Given the description of an element on the screen output the (x, y) to click on. 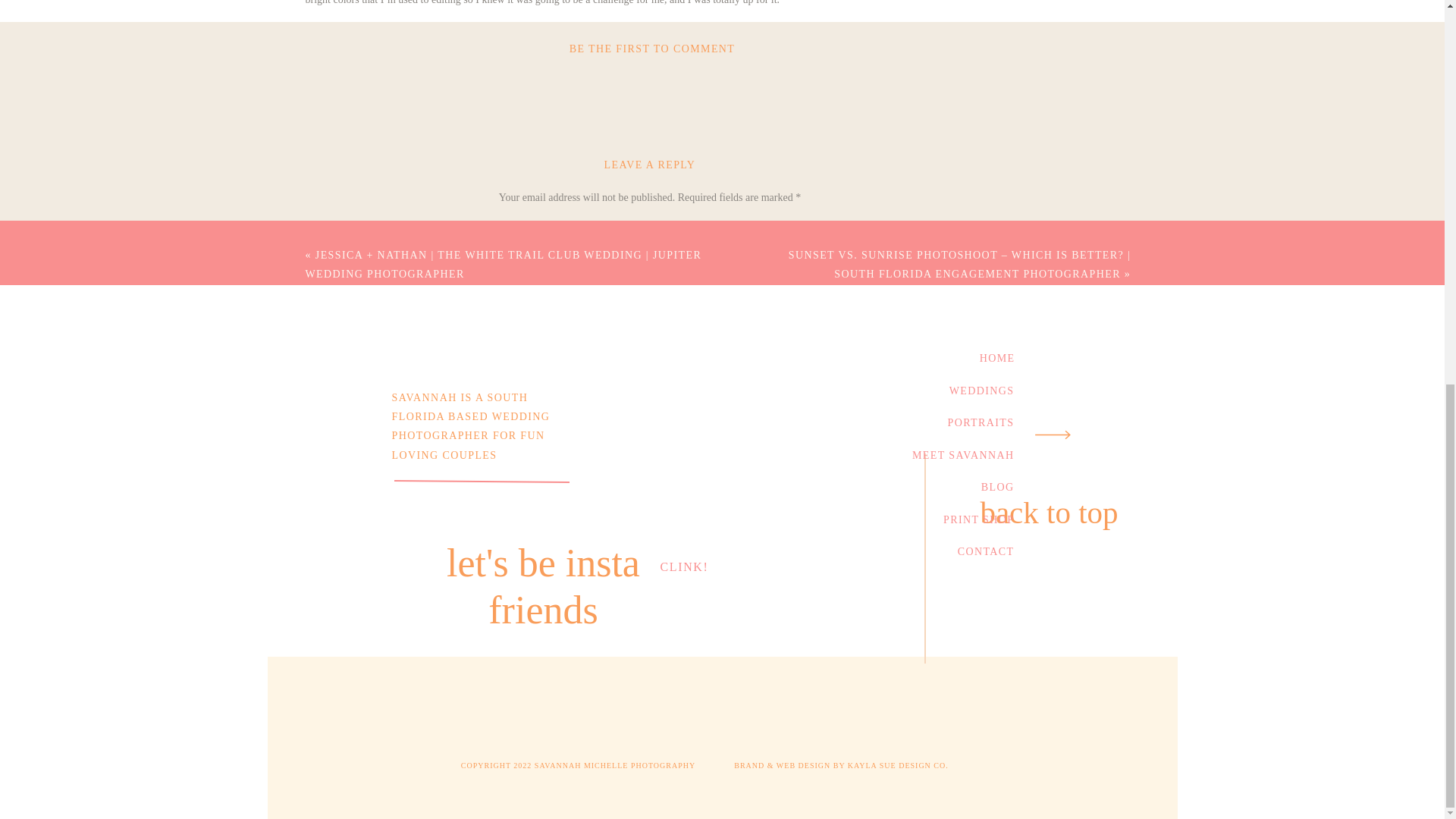
back to top (1049, 513)
BE THE FIRST TO COMMENT (652, 48)
Post Comment (650, 626)
yes (650, 562)
MEET SAVANNAH (949, 452)
WEDDINGS (971, 388)
Post Comment (650, 626)
CONTACT (949, 549)
PORTRAITS (971, 420)
HOME (971, 355)
